Given the description of an element on the screen output the (x, y) to click on. 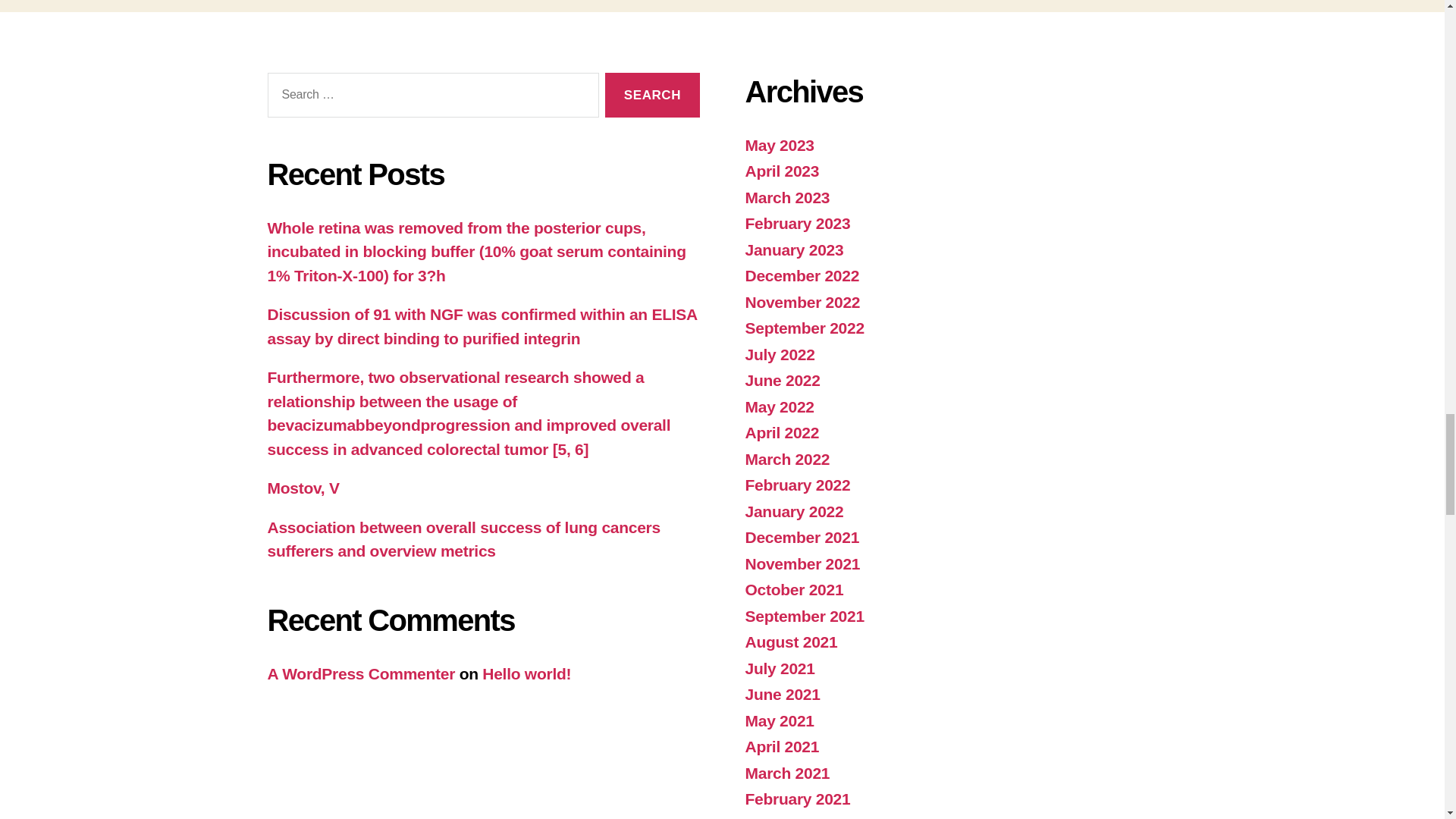
July 2022 (778, 354)
December 2022 (801, 275)
Search (651, 94)
March 2022 (786, 458)
Mostov, V (302, 487)
September 2022 (803, 327)
November 2022 (802, 302)
Search (651, 94)
April 2022 (781, 432)
